Given the description of an element on the screen output the (x, y) to click on. 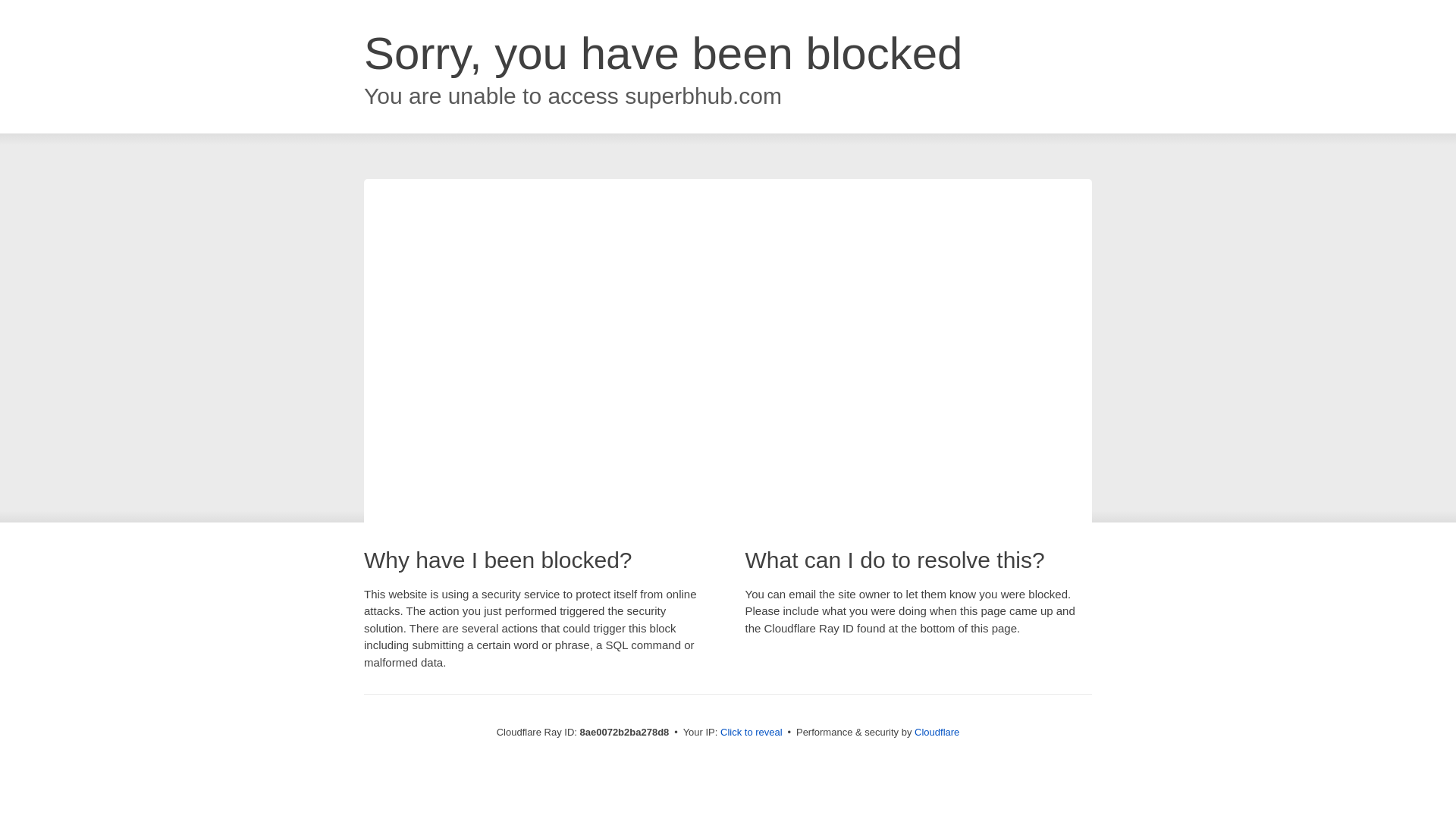
Click to reveal (751, 732)
Cloudflare (936, 731)
